Given the description of an element on the screen output the (x, y) to click on. 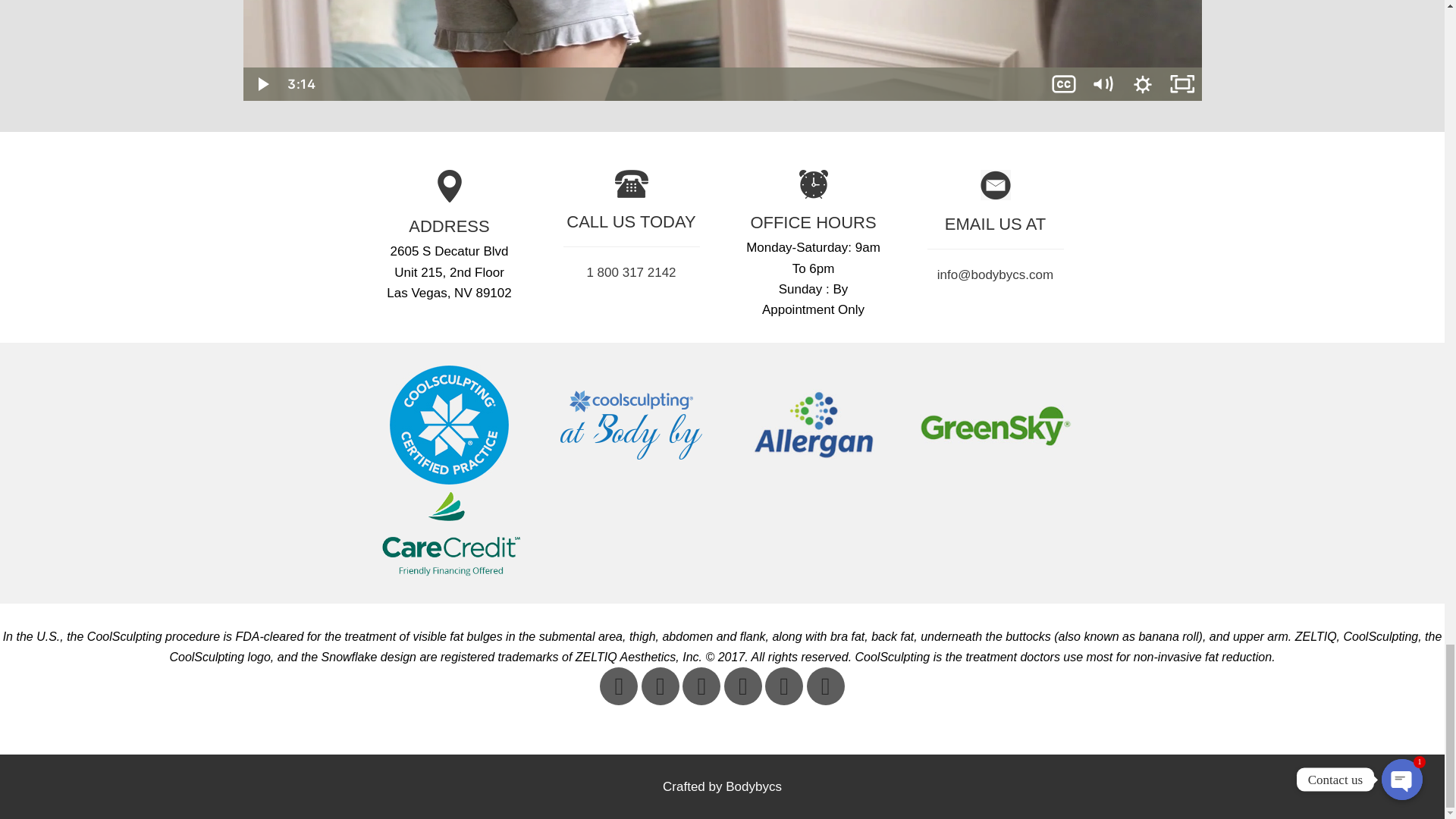
A Bold, Global Pharmaceutical Company - Allergan (812, 425)
Show settings menu (1141, 83)
Care Credit (448, 532)
